Given the description of an element on the screen output the (x, y) to click on. 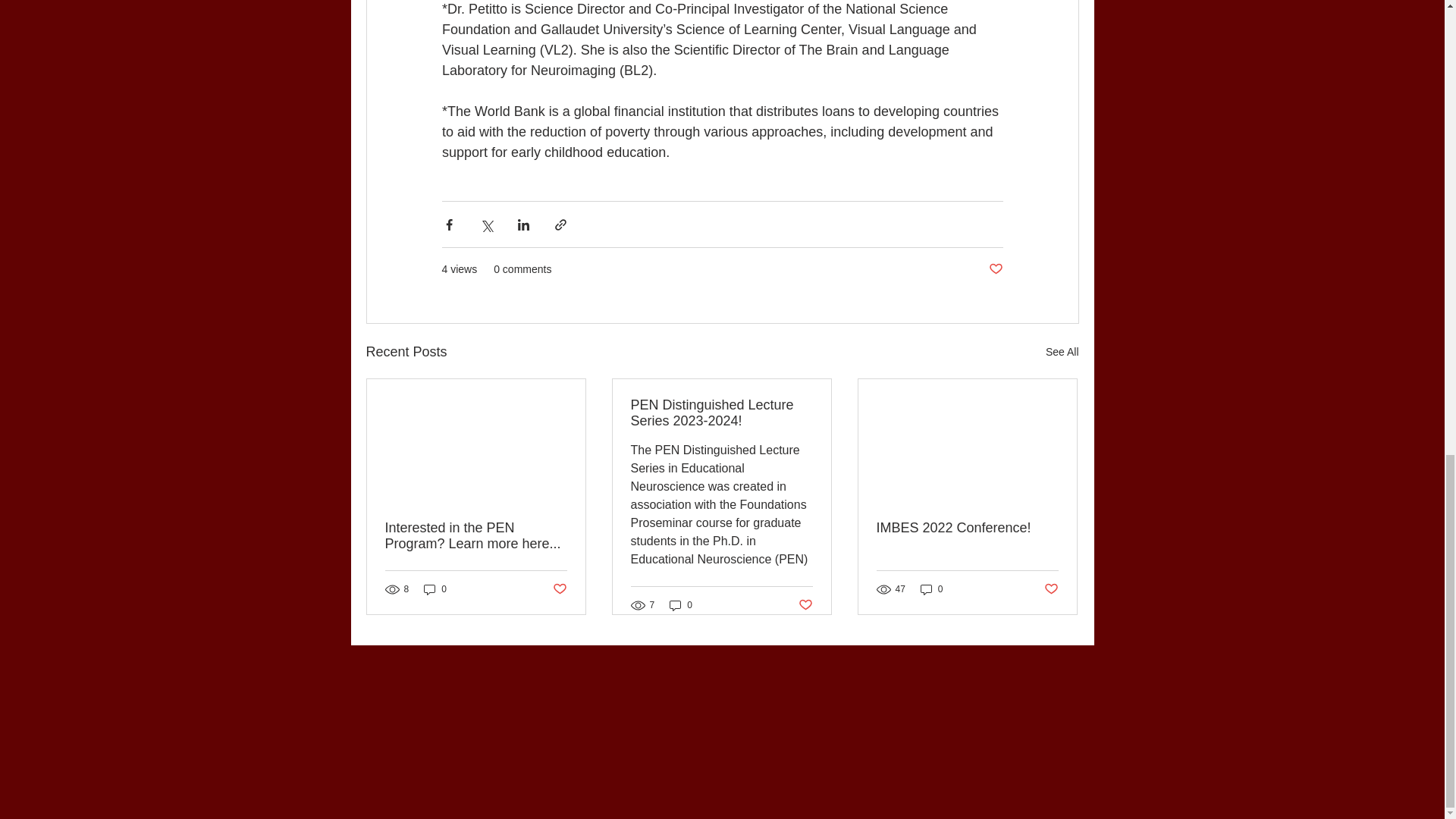
See All (1061, 352)
Post not marked as liked (995, 269)
